Given the description of an element on the screen output the (x, y) to click on. 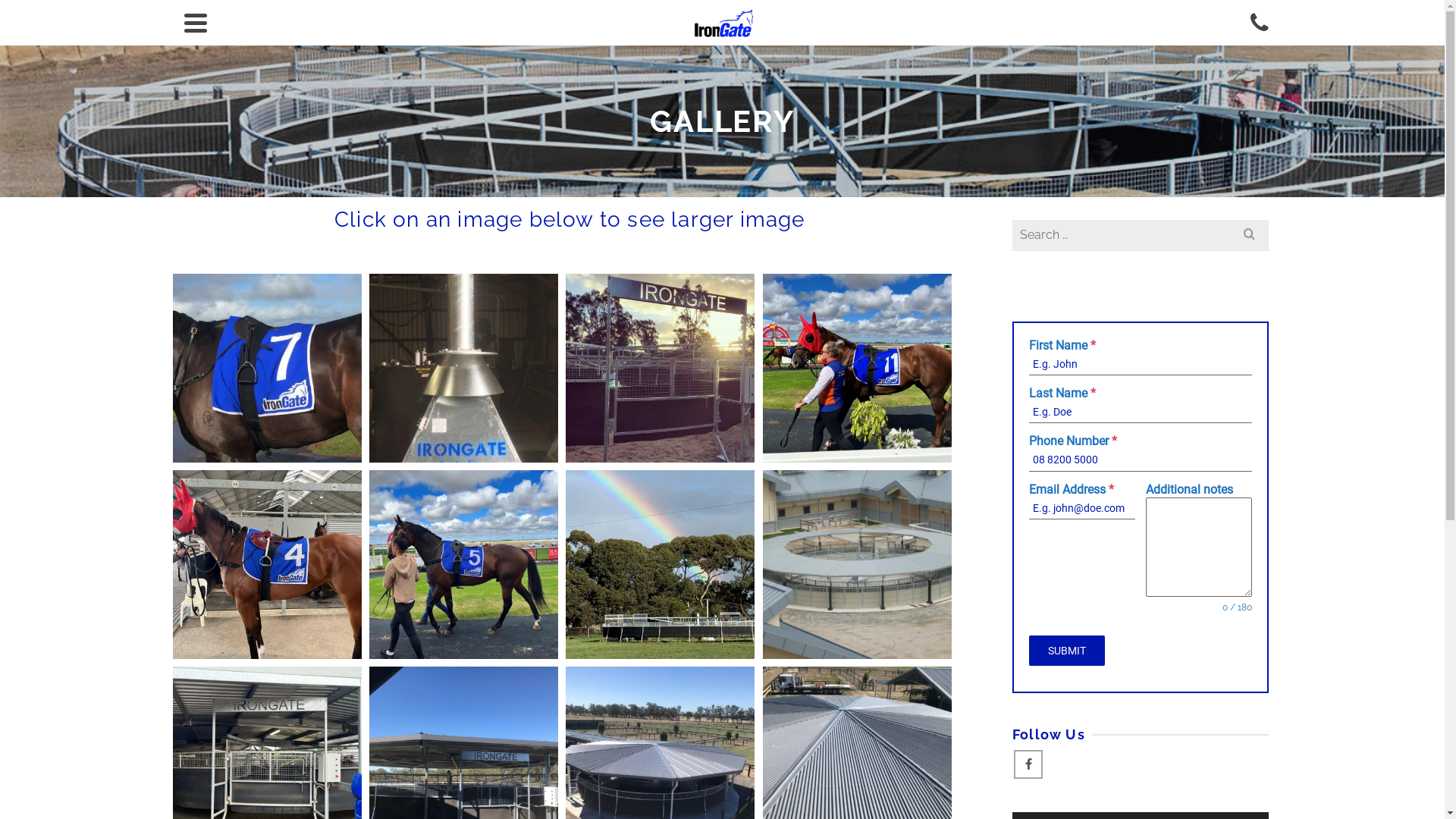
SUBMIT Element type: text (1066, 650)
